Given the description of an element on the screen output the (x, y) to click on. 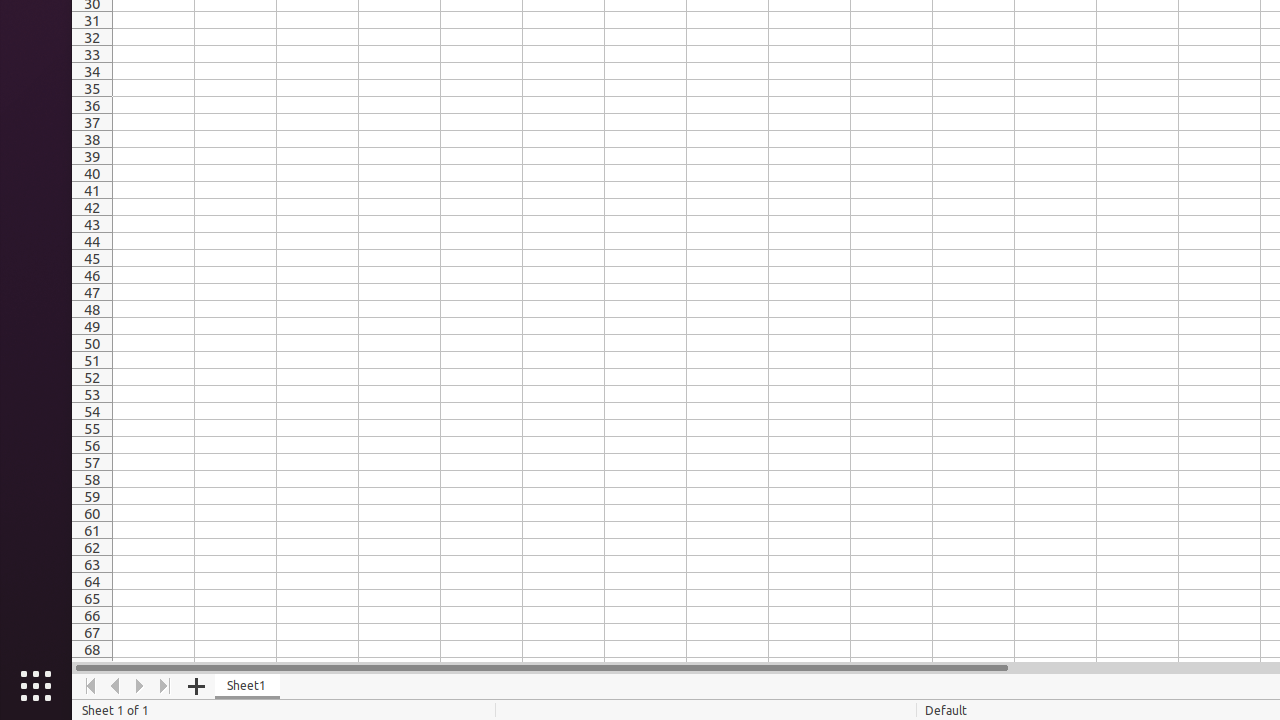
Sheet1 Element type: page-tab (247, 686)
